Given the description of an element on the screen output the (x, y) to click on. 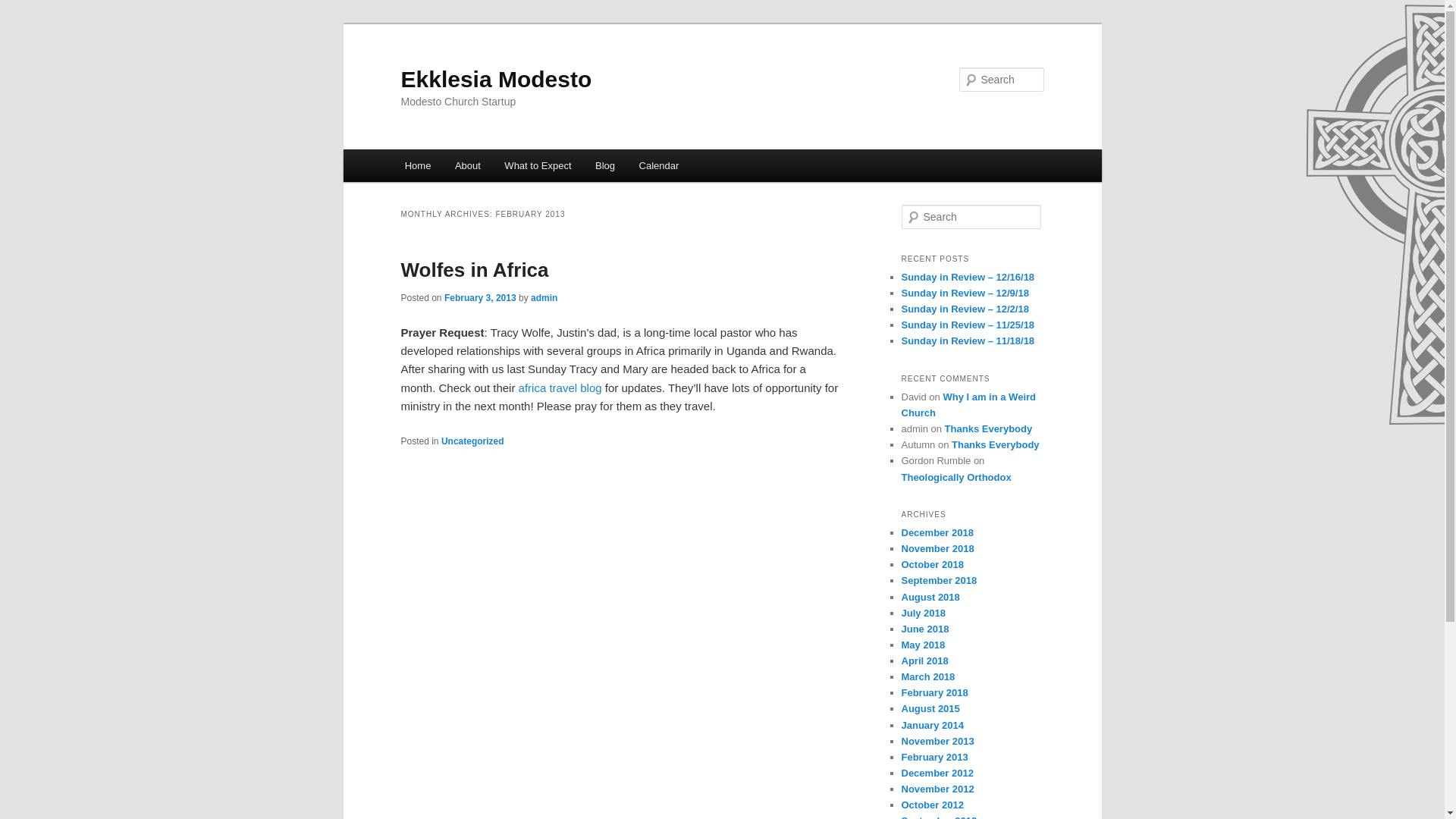
February 3, 2013 (480, 297)
4:48 pm (480, 297)
What to Expect (538, 165)
About (467, 165)
February 2013 (934, 756)
Home (417, 165)
admin (544, 297)
February 2018 (934, 692)
August 2018 (930, 596)
December 2018 (936, 532)
Wolfes in Africa (474, 269)
africa travel blog (560, 387)
May 2018 (922, 644)
August 2015 (930, 708)
Thanks Everybody (988, 428)
